Given the description of an element on the screen output the (x, y) to click on. 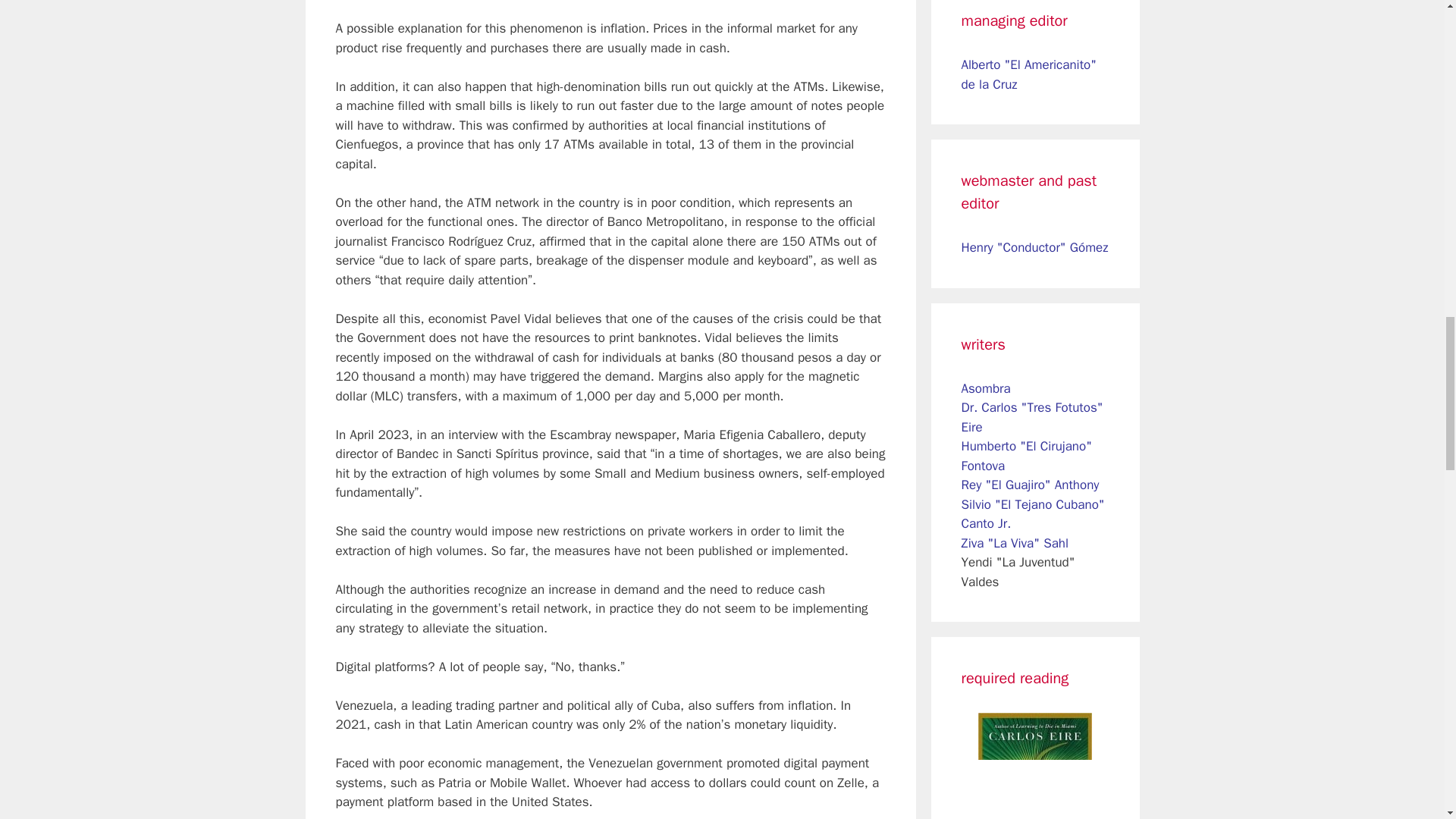
Alberto "El Americanito" de la Cruz (1028, 74)
Humberto "El Cirujano" Fontova (1026, 456)
Ziva "La Viva" Sahl (1014, 543)
Silvio "El Tejano Cubano" Canto Jr. (1032, 514)
Asombra (985, 388)
Rey "El Guajiro" Anthony (1029, 484)
Dr. Carlos "Tres Fotutos" Eire (1031, 416)
